Given the description of an element on the screen output the (x, y) to click on. 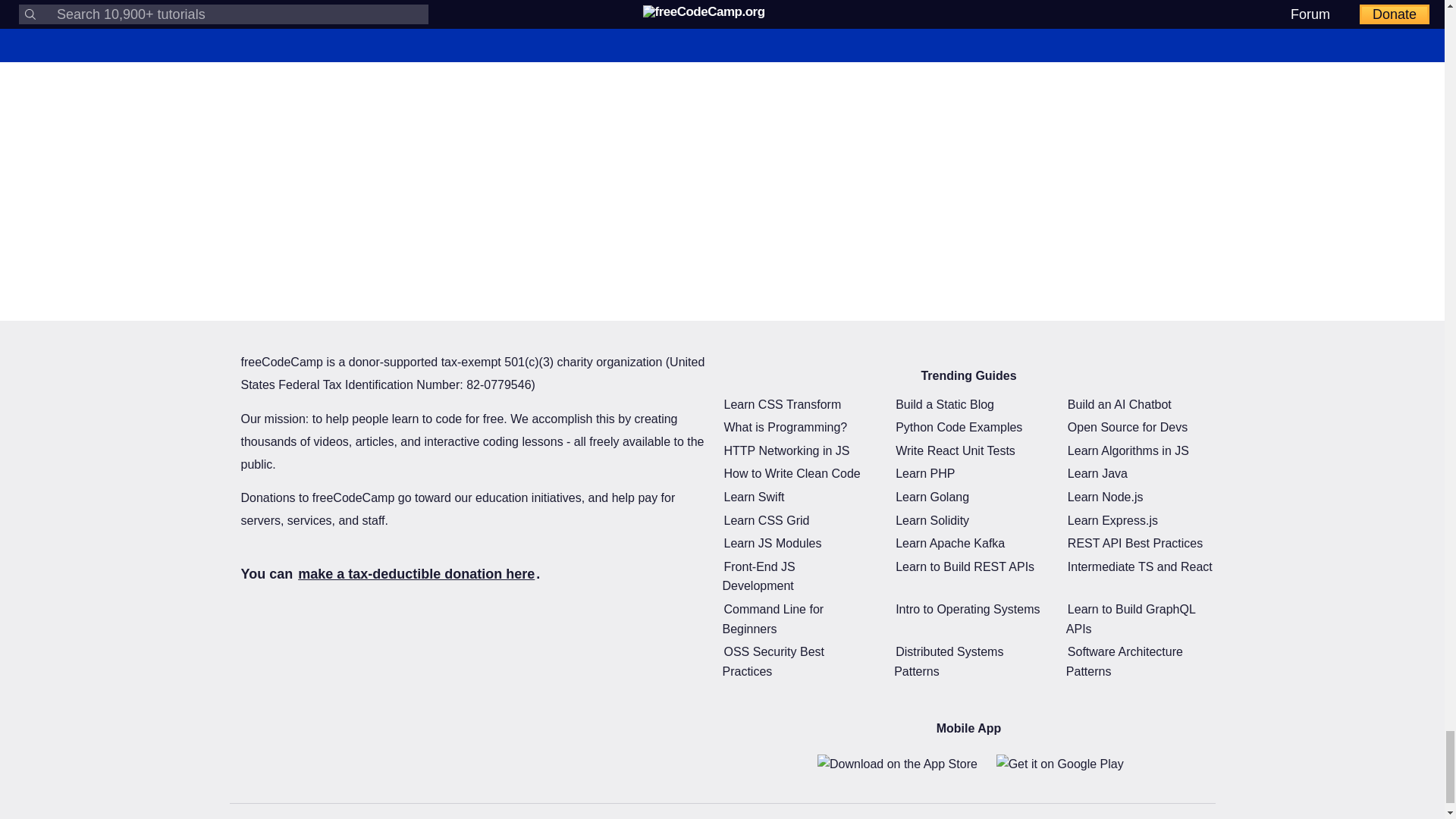
Learn Golang (932, 496)
Learn JS Modules (772, 543)
HTTP Networking in JS (786, 450)
Write React Unit Tests (954, 450)
Python Code Examples (958, 426)
How to Write Clean Code (791, 473)
Learn Apache Kafka (949, 543)
Learn Algorithms in JS (1128, 450)
Learn Swift (754, 496)
make a tax-deductible donation here (416, 574)
